Given the description of an element on the screen output the (x, y) to click on. 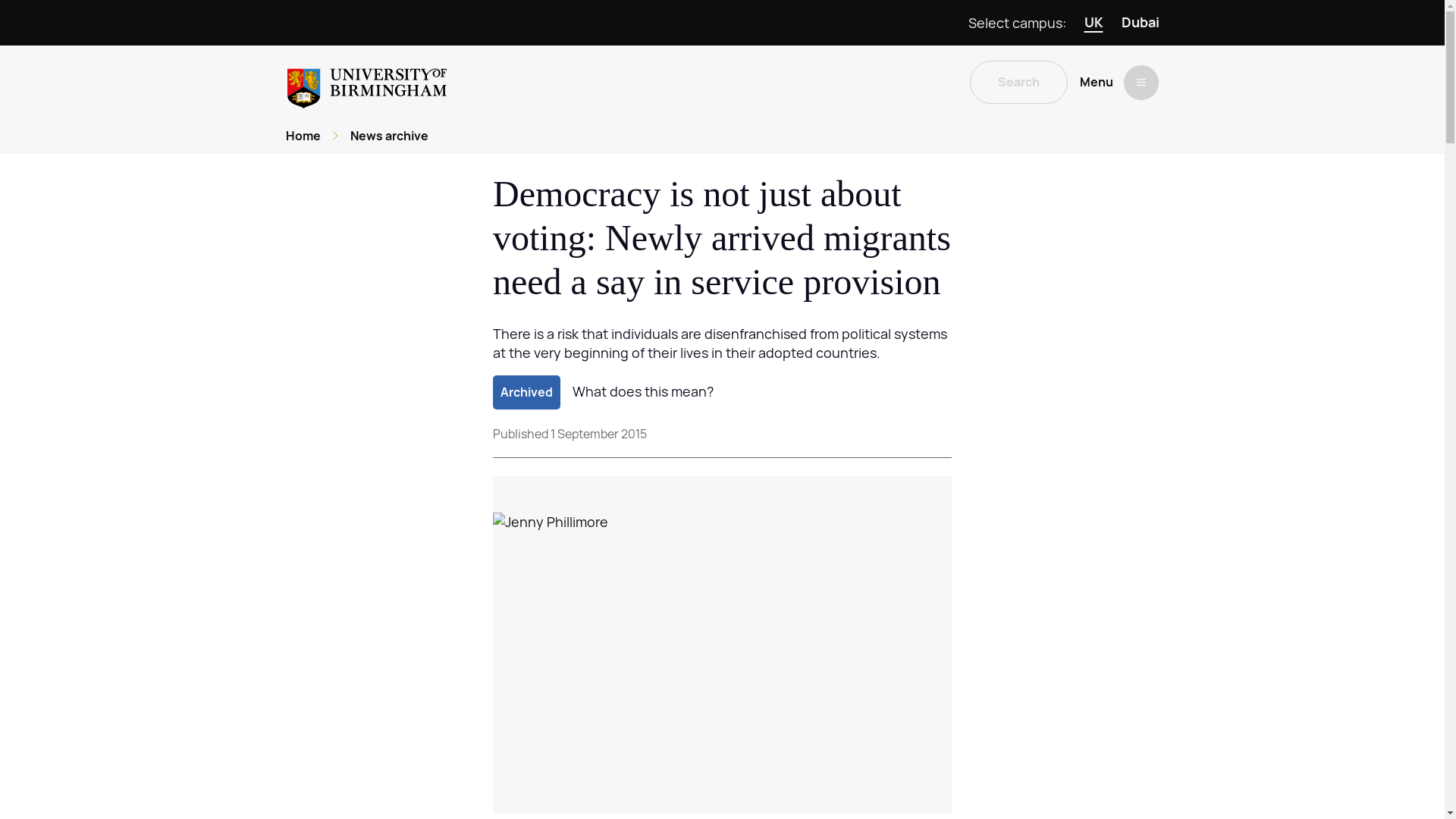
Dubai (1139, 22)
What does this mean? (642, 391)
News archive (389, 136)
Search (1018, 81)
Home (302, 136)
UK (1093, 22)
